Given the description of an element on the screen output the (x, y) to click on. 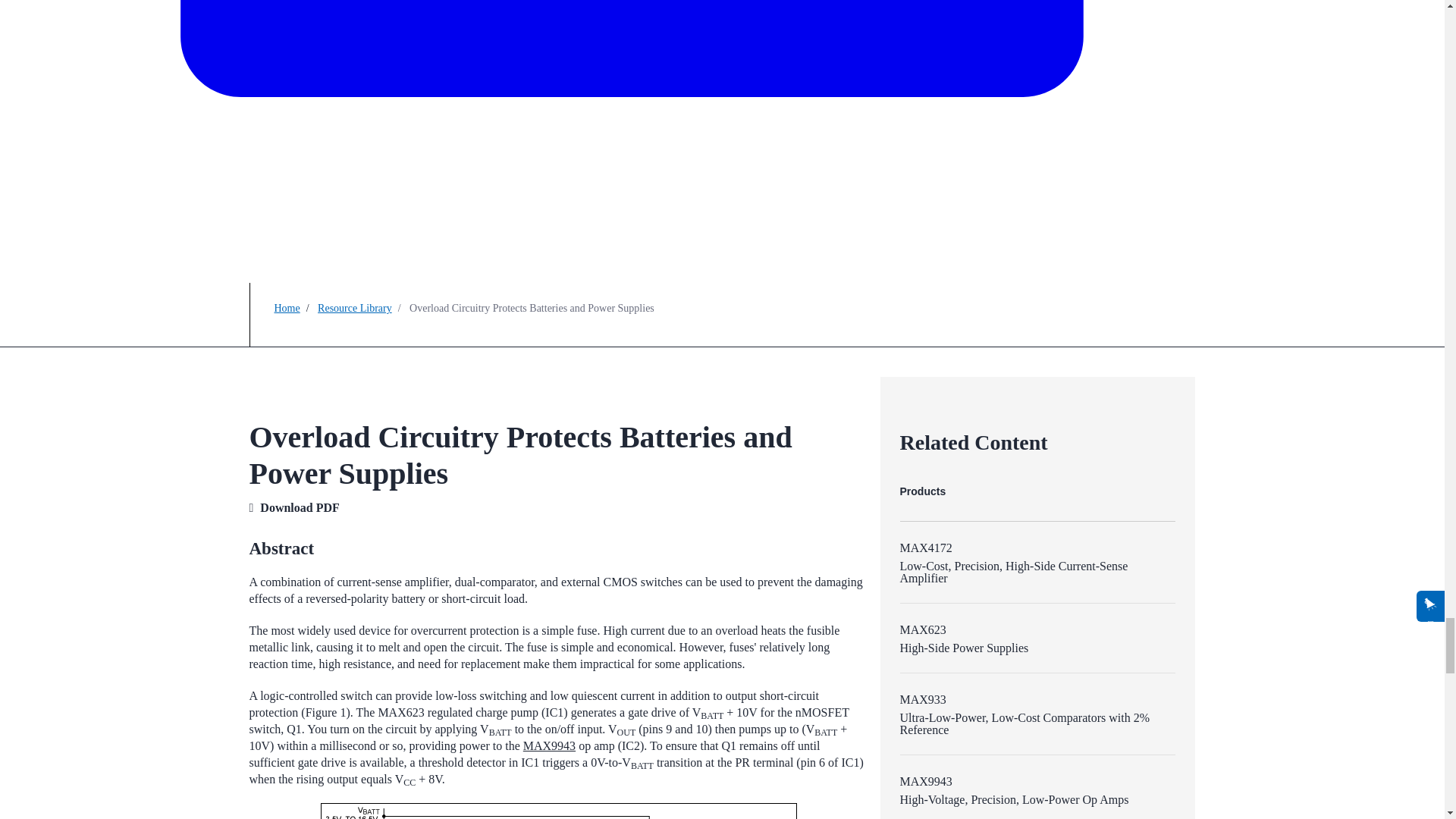
Resource Library (354, 307)
MAX9943 (925, 780)
MAX9943 (548, 745)
Download PDF (299, 507)
MAX933 (921, 698)
Home (287, 307)
MAX4172 (925, 547)
MAX623 (921, 629)
